Given the description of an element on the screen output the (x, y) to click on. 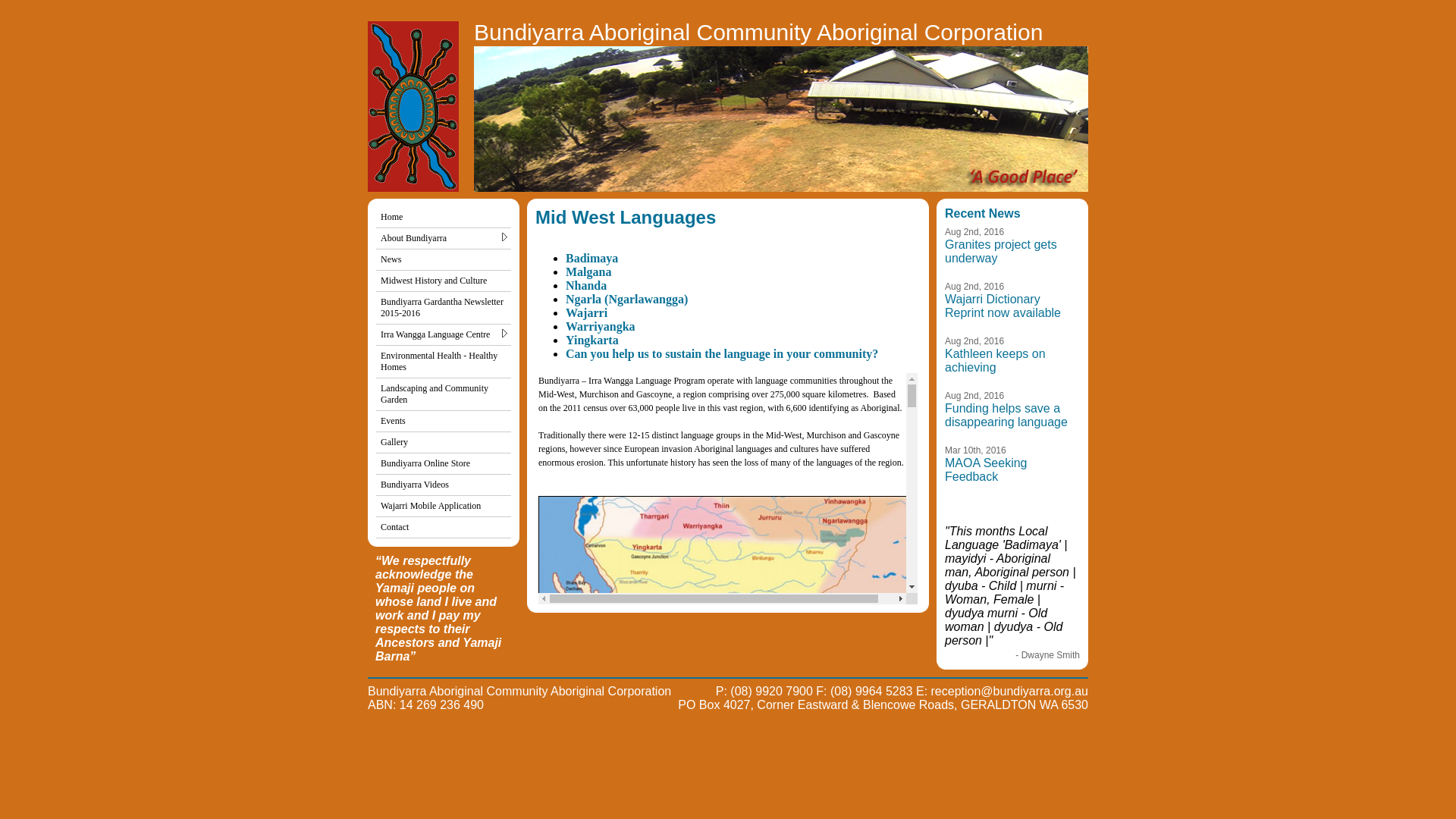
Warriyangka Element type: text (600, 326)
Home Element type: text (443, 217)
Contact Element type: text (443, 527)
Bundiyarra Element type: hover (780, 118)
Events Element type: text (443, 421)
Midwest History and Culture Element type: text (443, 280)
Bundiyarra Gardantha Newsletter 2015-2016 Element type: text (443, 307)
Can you help us to sustain the language in your community? Element type: text (721, 353)
Granites project gets underway Element type: text (1000, 251)
Environmental Health - Healthy Homes Element type: text (443, 361)
Wajarri Dictionary Reprint now available Element type: text (1002, 305)
MAOA Seeking Feedback Element type: text (985, 469)
Nhanda Element type: text (585, 285)
About Bundiyarra Element type: text (443, 238)
News Element type: text (443, 259)
Ngarla (Ngarlawangga) Element type: text (626, 298)
Yingkarta Element type: text (591, 339)
Wajarri Mobile Application Element type: text (443, 506)
Badimaya Element type: text (591, 257)
Malgana Element type: text (588, 271)
Landscaping and Community Garden Element type: text (443, 394)
Kathleen keeps on achieving Element type: text (994, 360)
Bundiyarra Online Store Element type: text (443, 463)
Wajarri Element type: text (586, 312)
Funding helps save a disappearing language Element type: text (1005, 414)
Gallery Element type: text (443, 442)
Irra Wangga Language Centre Element type: text (443, 334)
Bundiyarra Videos Element type: text (443, 484)
